Given the description of an element on the screen output the (x, y) to click on. 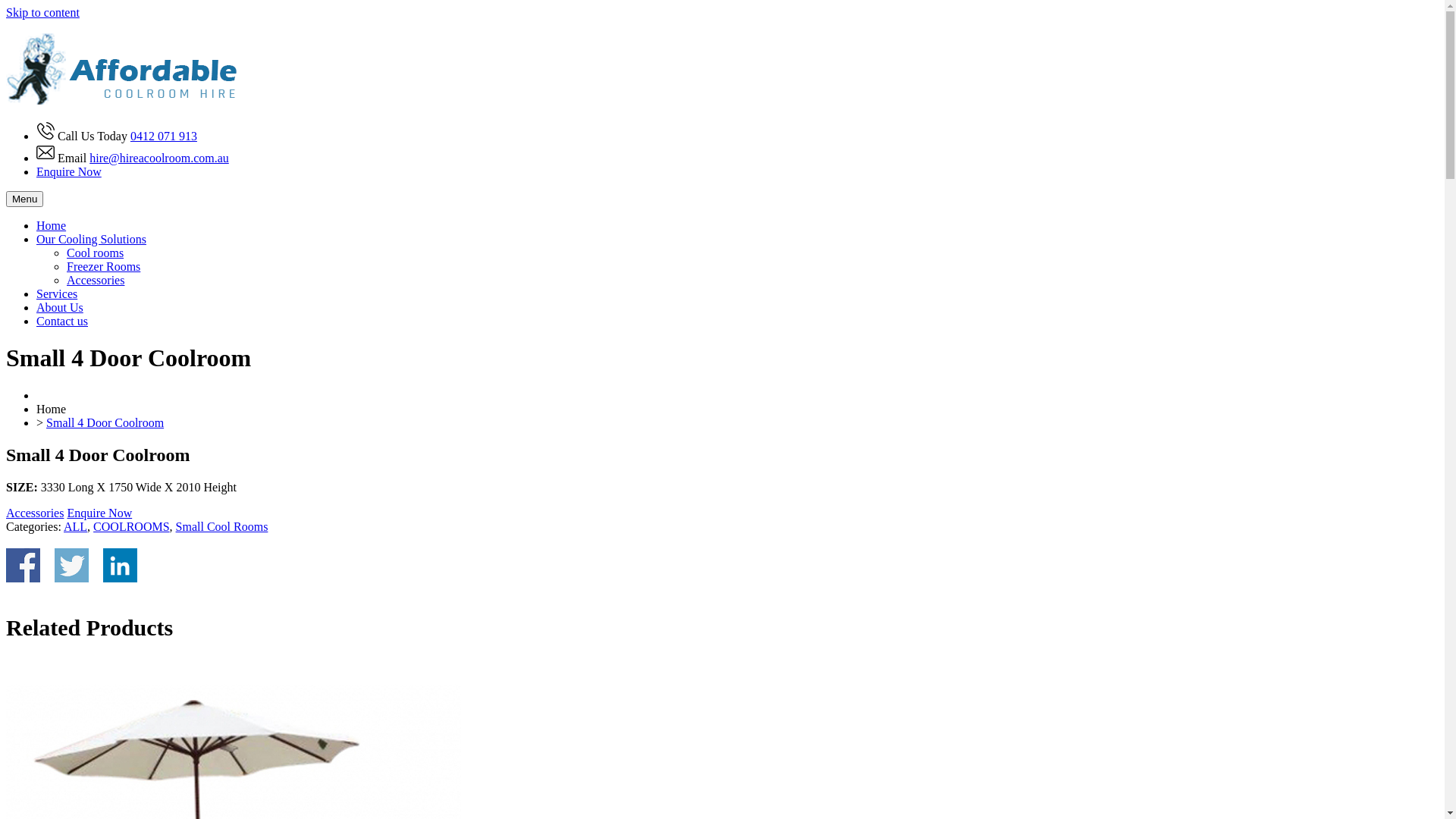
Share on Facebook Element type: text (23, 565)
Enquire Now Element type: text (68, 171)
Contact us Element type: text (61, 320)
Share on Linkedin Element type: text (120, 565)
COOLROOMS Element type: text (131, 526)
Small 4 Door Coolroom Element type: text (104, 422)
Our Cooling Solutions Element type: text (91, 238)
Skip to content Element type: text (42, 12)
0412 071 913 Element type: text (163, 135)
Menu Element type: text (24, 199)
Cool rooms Element type: text (94, 252)
Services Element type: text (56, 293)
Freezer Rooms Element type: text (103, 266)
Accessories Element type: text (95, 279)
Small Cool Rooms Element type: text (221, 526)
Home Element type: text (50, 225)
Share on Twitter Element type: text (71, 565)
hire@hireacoolroom.com.au Element type: text (159, 157)
ALL Element type: text (75, 526)
Accessories Element type: text (34, 512)
About Us Element type: text (59, 307)
Enquire Now Element type: text (98, 512)
